Given the description of an element on the screen output the (x, y) to click on. 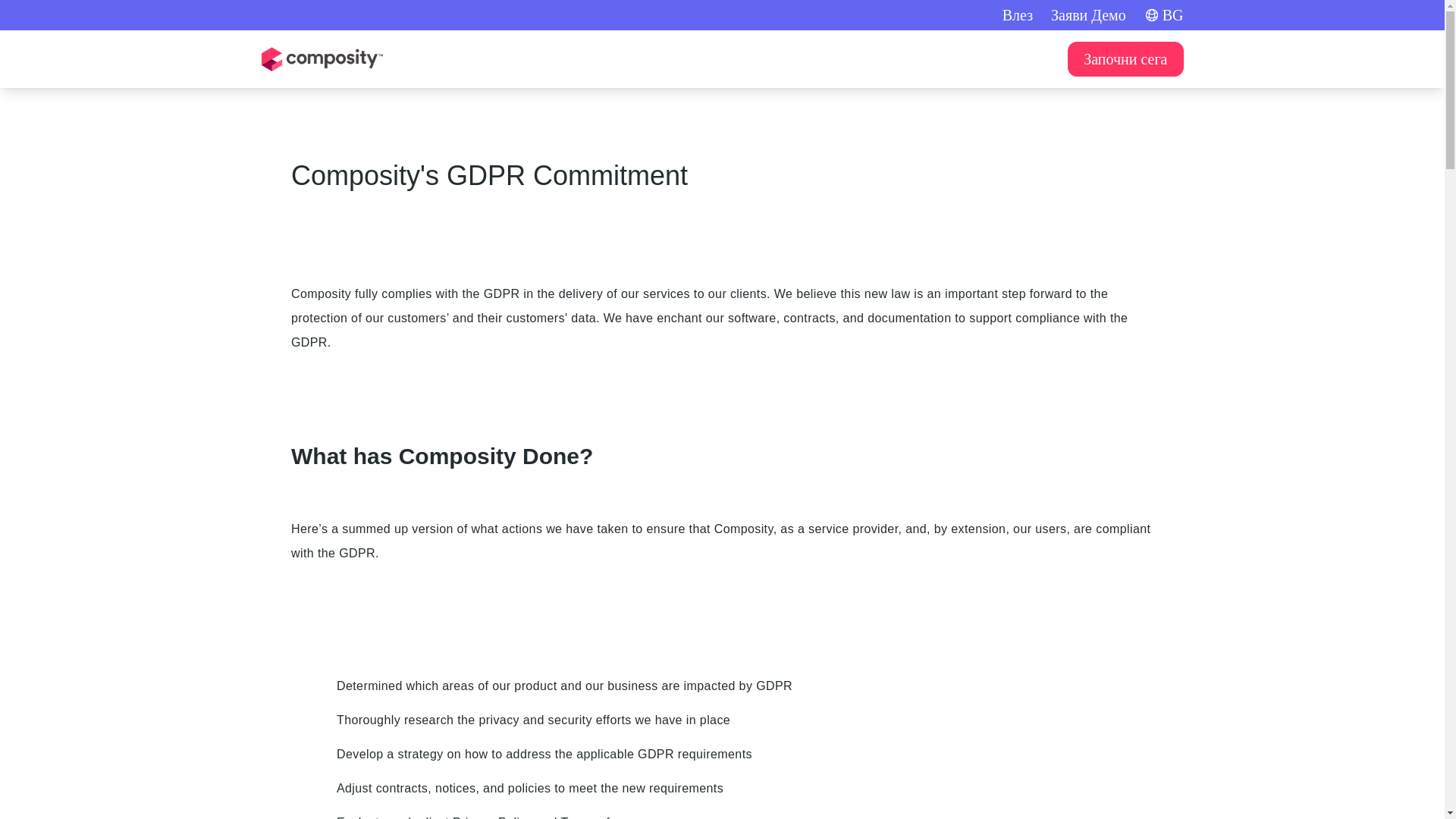
BG (1163, 14)
